Given the description of an element on the screen output the (x, y) to click on. 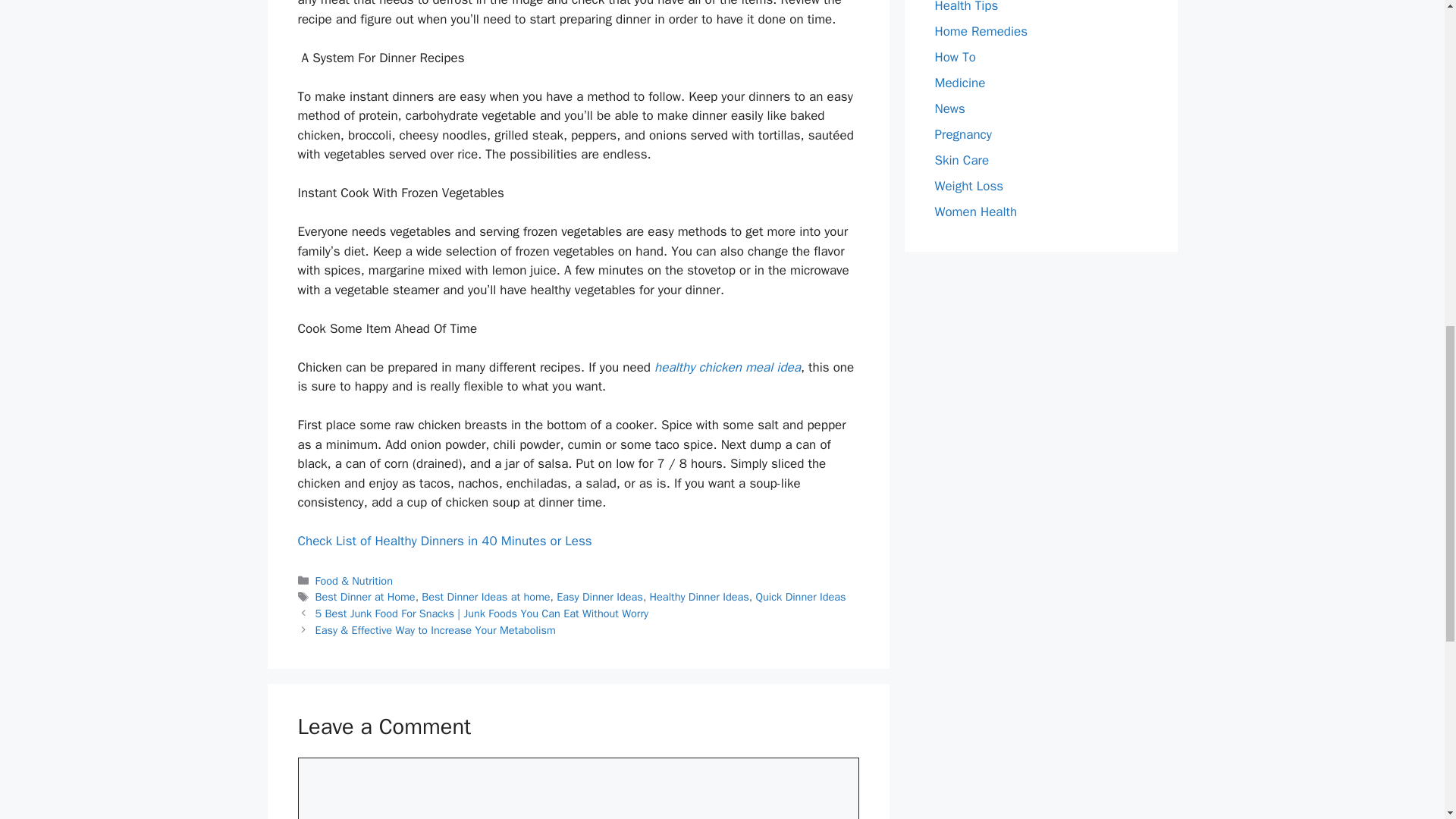
Best Dinner at Home (364, 596)
healthy chicken meal idea (726, 367)
Healthy Dinner Ideas (699, 596)
Quick Dinner Ideas (800, 596)
Best Dinner Ideas at home (486, 596)
Check List of Healthy Dinners in 40 Minutes or Less (444, 540)
Easy Dinner Ideas (599, 596)
